Given the description of an element on the screen output the (x, y) to click on. 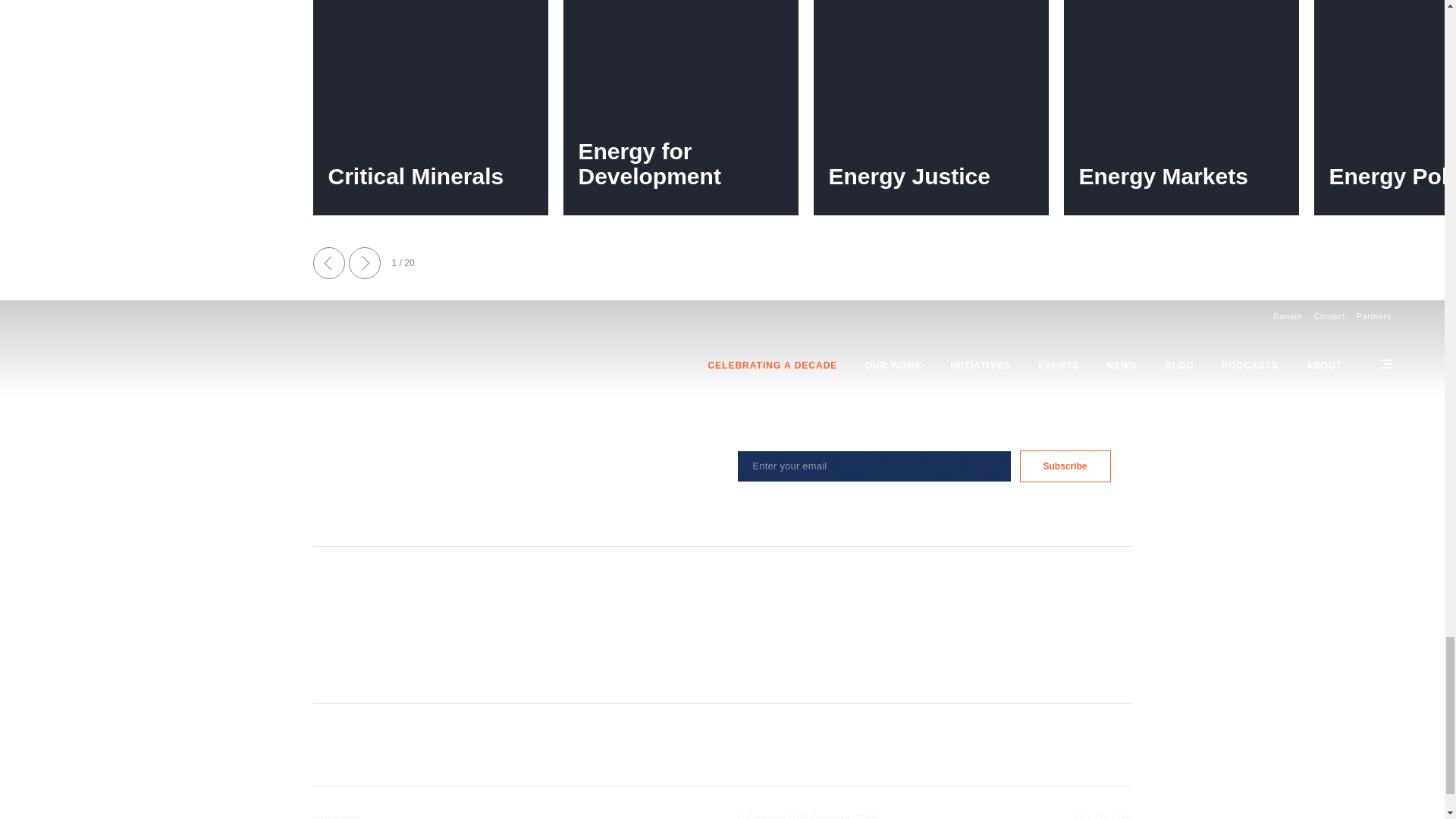
Subscribe (1064, 466)
